Given the description of an element on the screen output the (x, y) to click on. 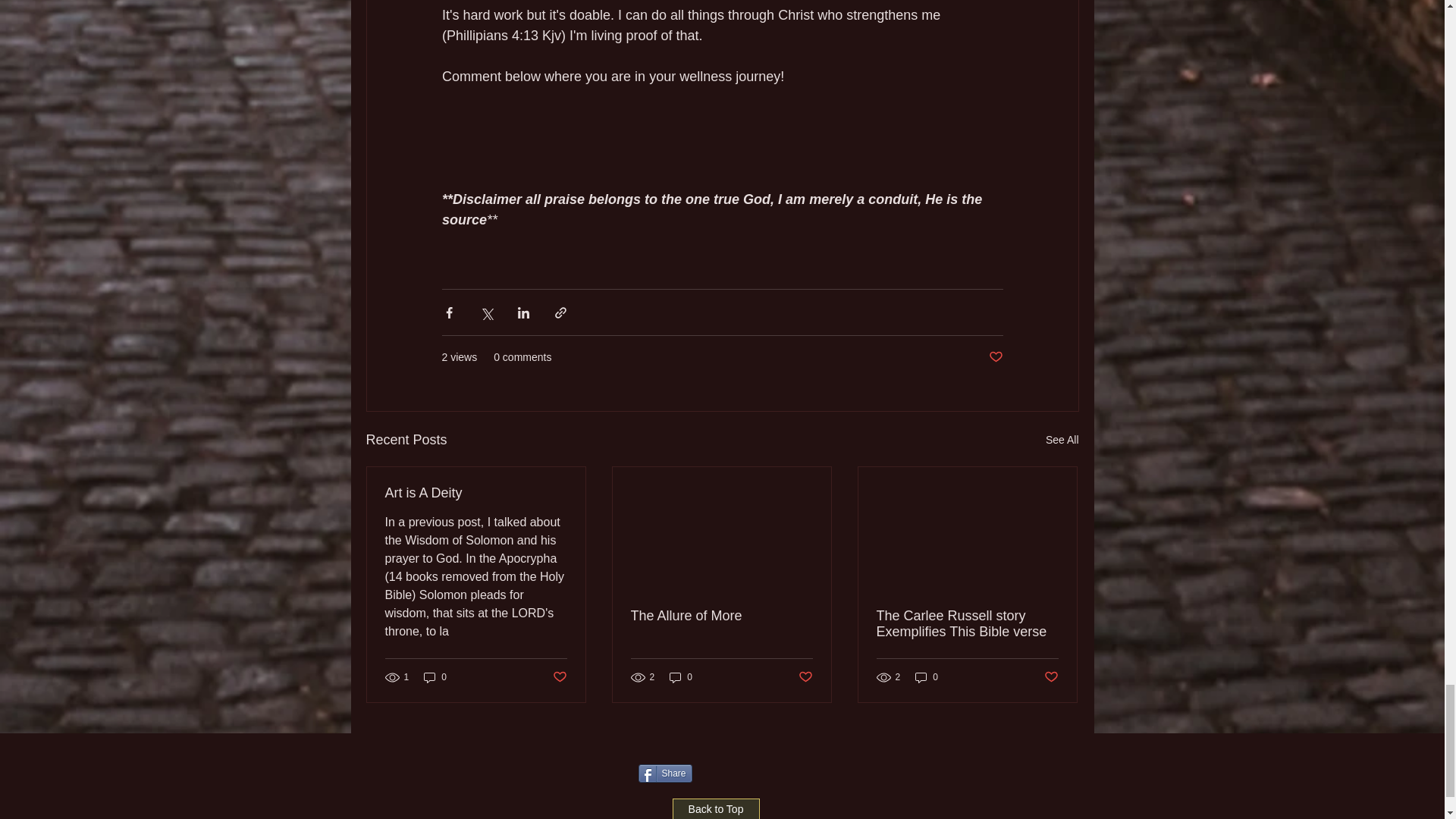
The Allure of More (721, 616)
Post not marked as liked (995, 357)
Share (666, 773)
Post not marked as liked (1050, 677)
Art is A Deity (476, 493)
0 (681, 677)
Post not marked as liked (558, 677)
0 (926, 677)
Back to Top (714, 808)
Post not marked as liked (804, 677)
0 (435, 677)
Share (666, 773)
The Carlee Russell story Exemplifies This Bible verse (967, 623)
See All (1061, 440)
